Given the description of an element on the screen output the (x, y) to click on. 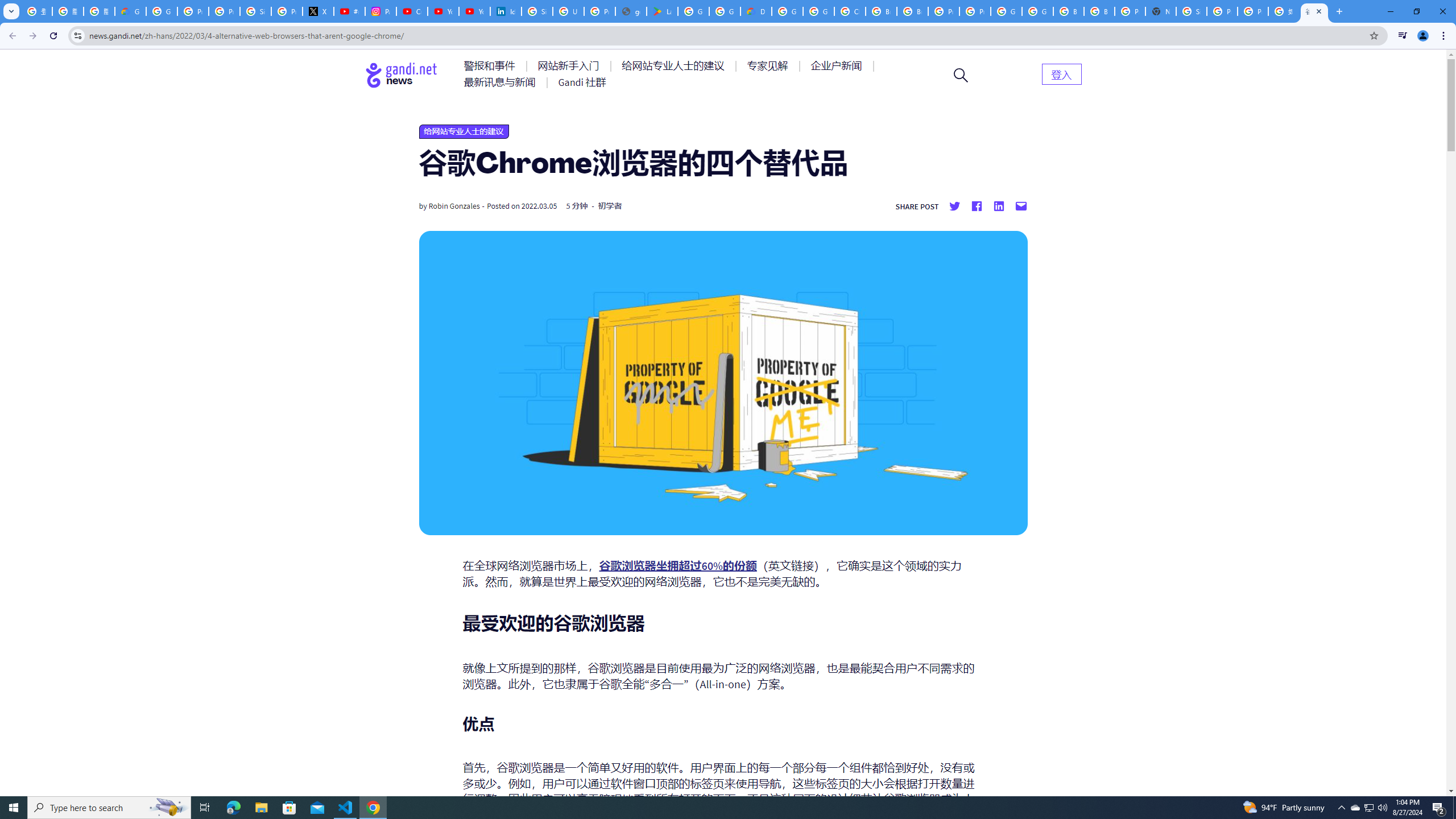
AutomationID: menu-item-77767 (581, 82)
Sign in - Google Accounts (1190, 11)
Browse Chrome as a guest - Computer - Google Chrome Help (1068, 11)
Go to home (401, 75)
AutomationID: menu-item-77764 (769, 65)
YouTube Culture & Trends - YouTube Top 10, 2021 (474, 11)
